Given the description of an element on the screen output the (x, y) to click on. 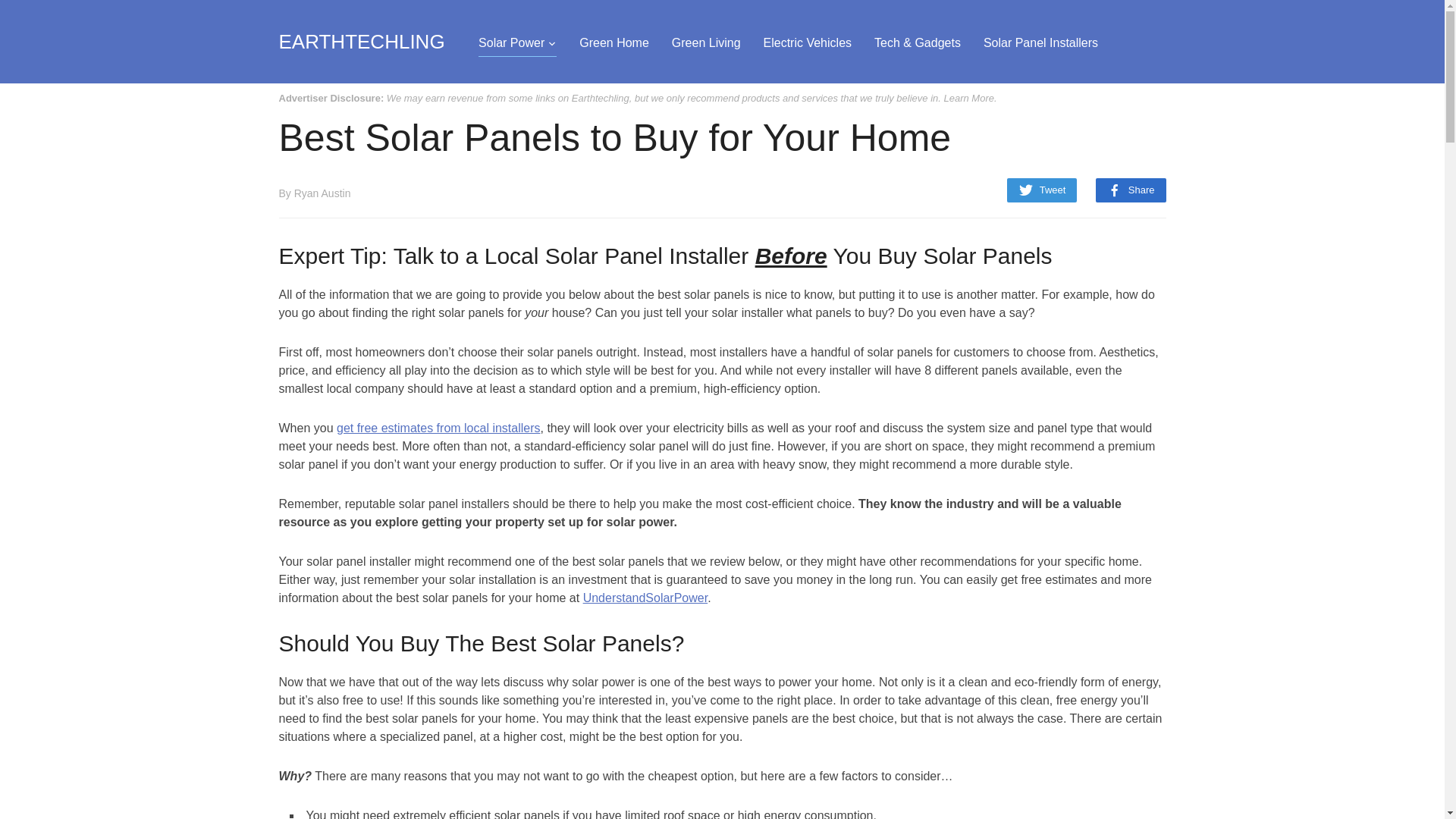
Learn More (967, 98)
Solar Power (517, 43)
Share (1131, 189)
Solar Panel Installers (1040, 43)
Electric Vehicles (806, 43)
Green Home (614, 43)
Share this on Facebook (1131, 189)
Tweet (1042, 189)
UnderstandSolarPower (645, 597)
EARTHTECHLING (362, 41)
